Given the description of an element on the screen output the (x, y) to click on. 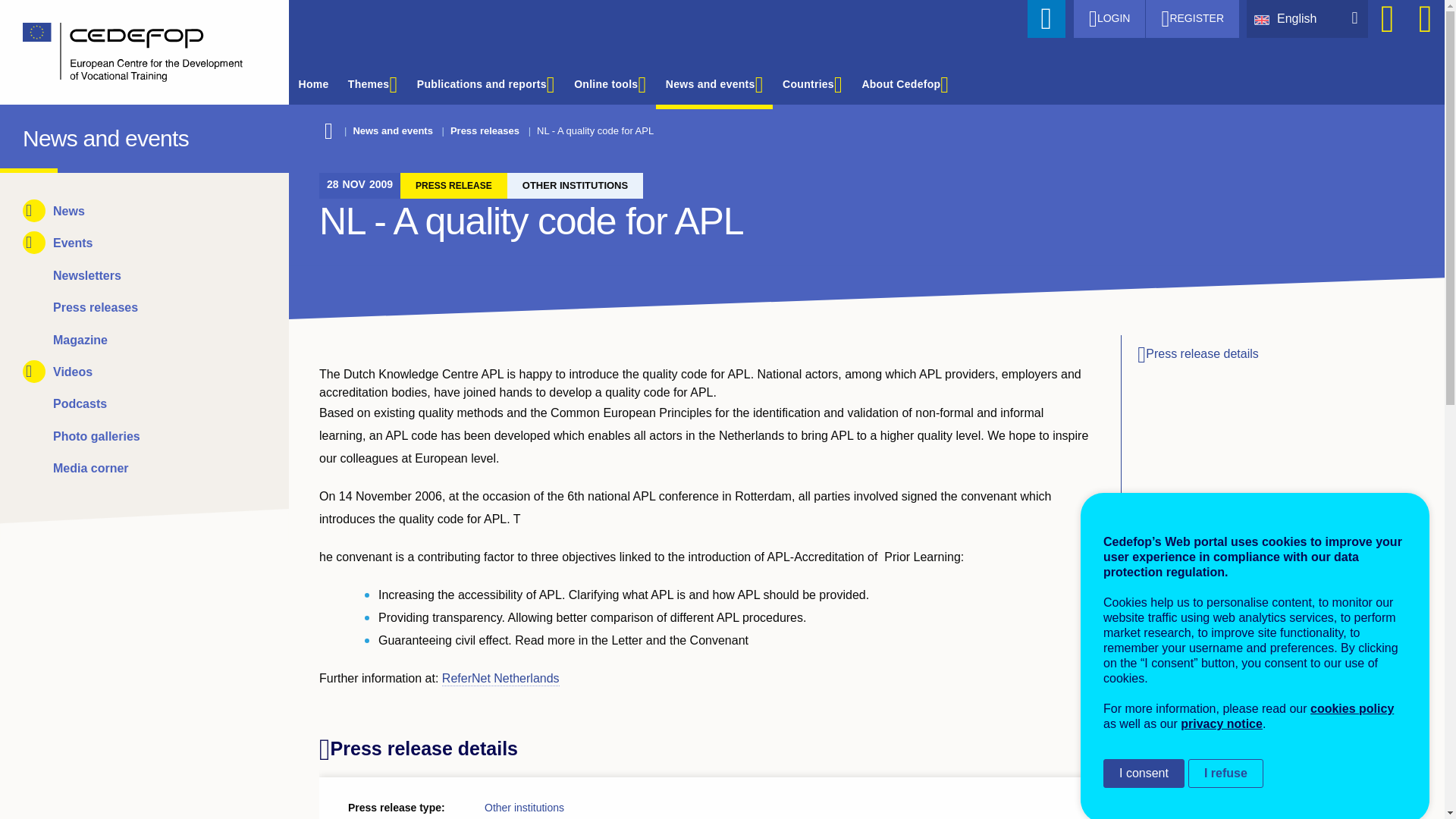
Apply (1046, 18)
CEDEFOP (37, 135)
Home (133, 52)
Home (37, 135)
